Given the description of an element on the screen output the (x, y) to click on. 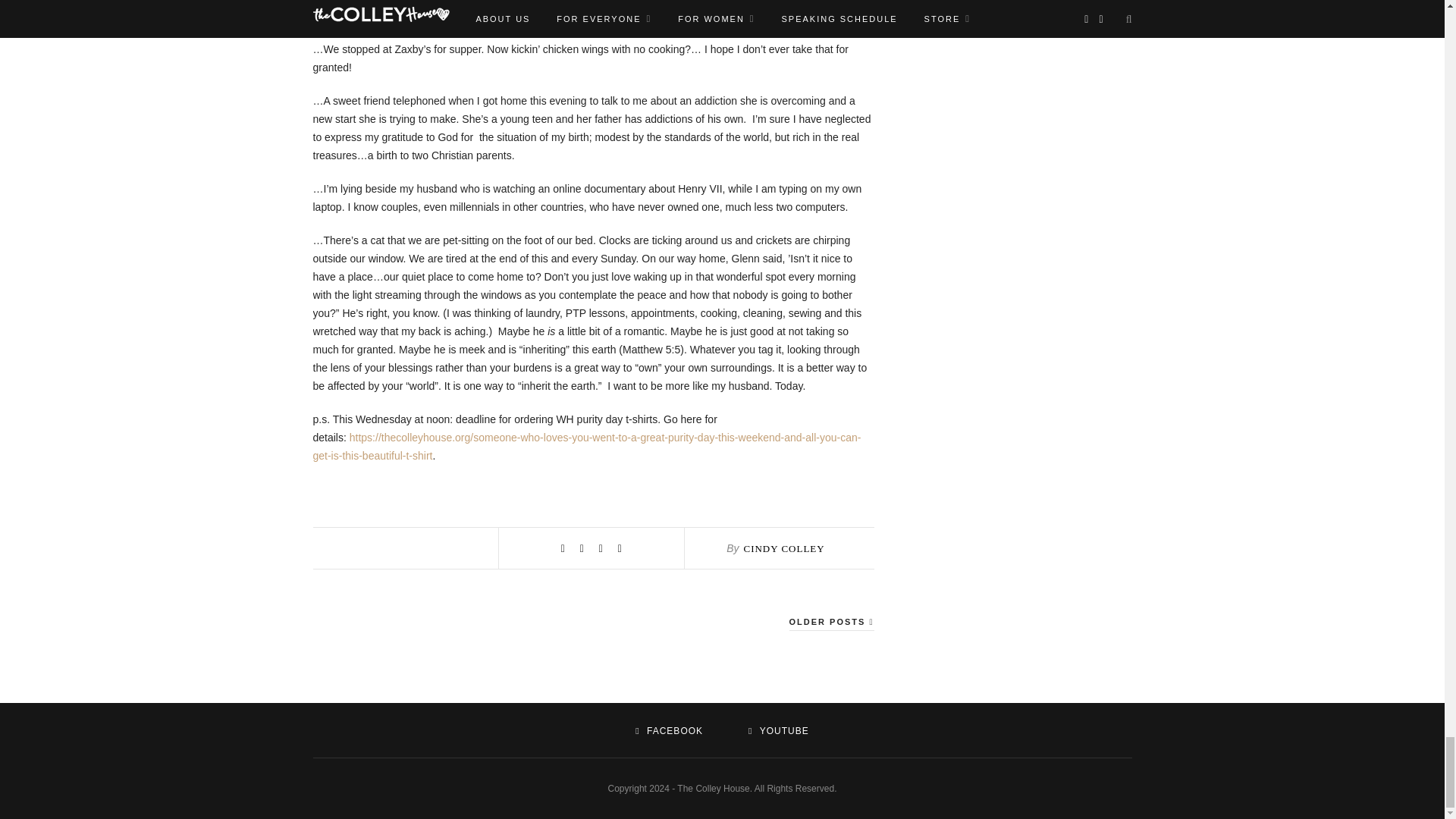
Posts by Cindy Colley (783, 548)
